Given the description of an element on the screen output the (x, y) to click on. 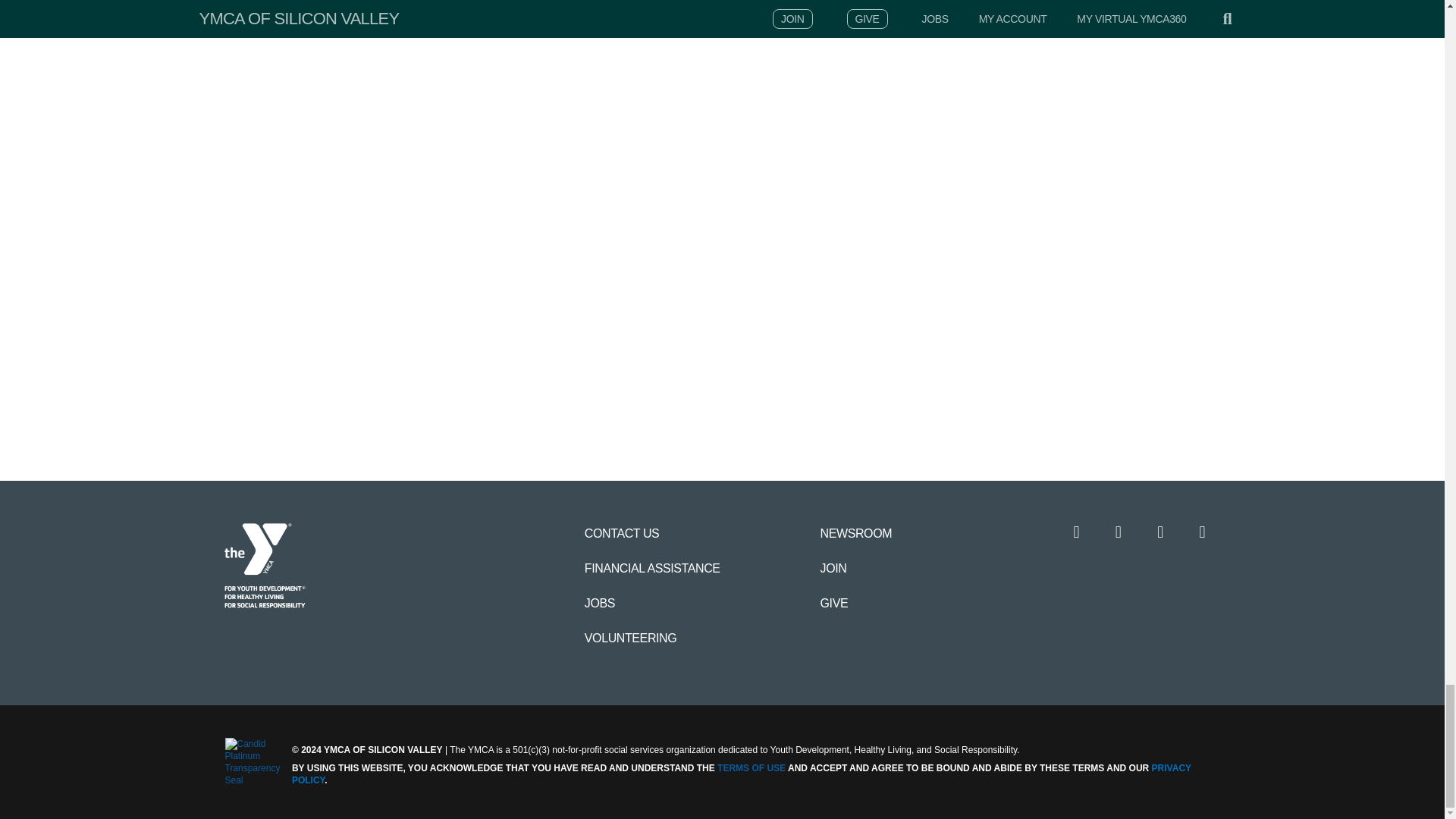
Go to YMCA Facebook (1084, 532)
Go to YMCA Linkedin (1209, 532)
Go to YMCA Instagram (1126, 532)
Home (264, 565)
Go to YMCA Youtube channel (1167, 532)
